Given the description of an element on the screen output the (x, y) to click on. 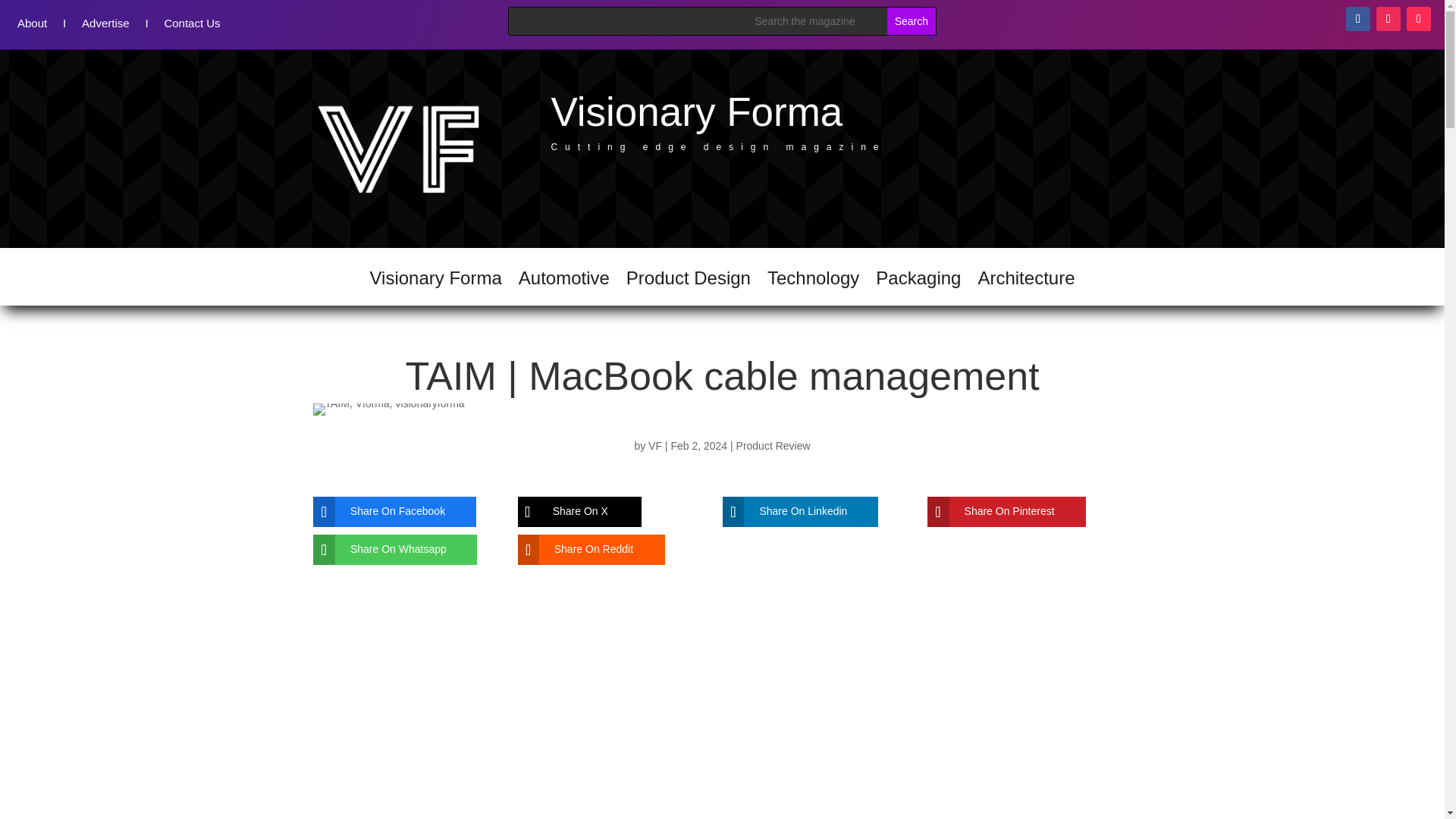
Share On Reddit (579, 549)
Follow on TikTok (1418, 18)
VF (654, 445)
Search (911, 21)
Share On Whatsapp (383, 549)
Share On Pinterest (994, 511)
Packaging (918, 280)
Share On Facebook (382, 511)
Share On Linkedin (789, 511)
Architecture (1025, 280)
